Given the description of an element on the screen output the (x, y) to click on. 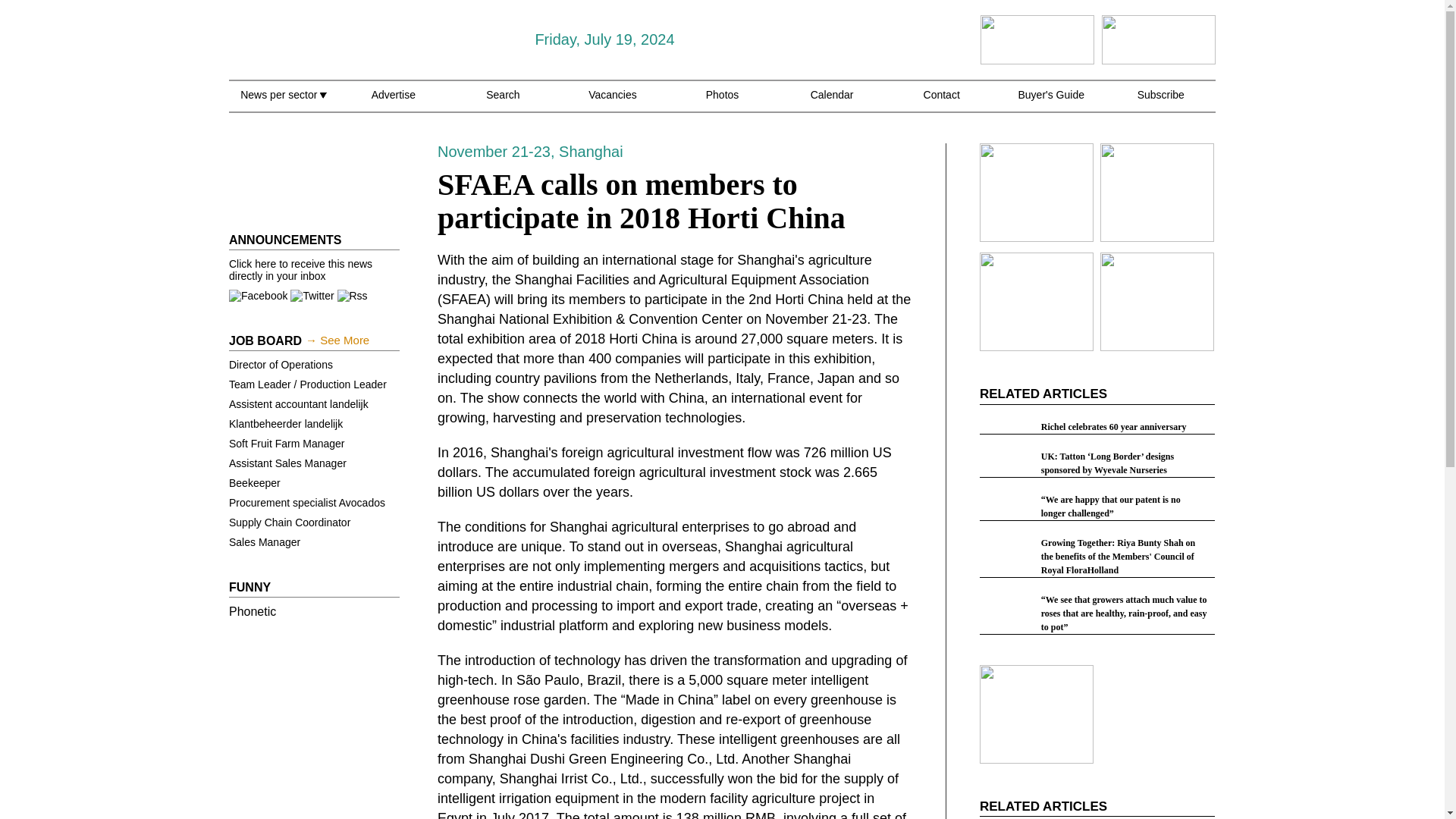
News per sector (283, 103)
Advertise (392, 103)
